Given the description of an element on the screen output the (x, y) to click on. 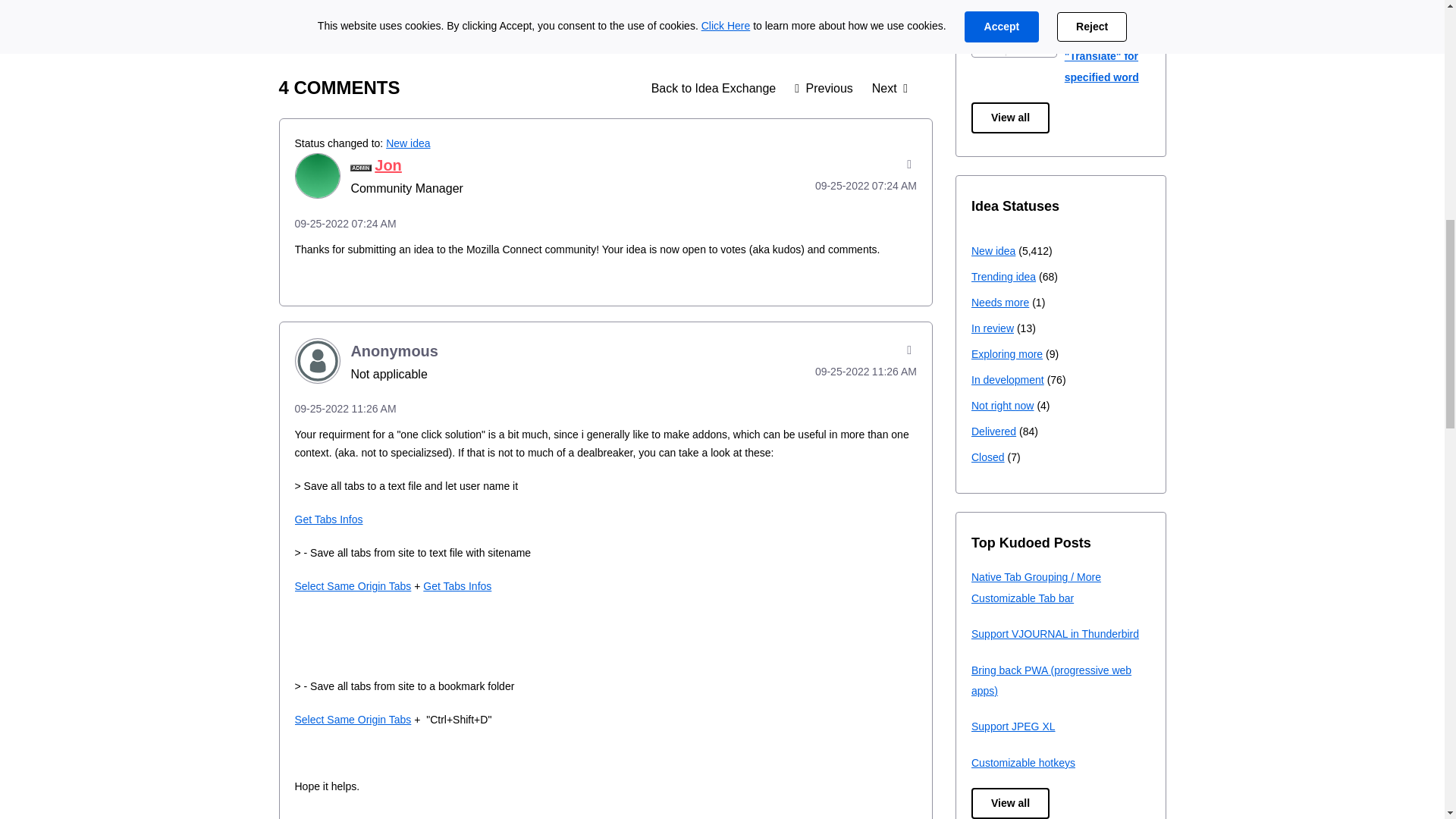
Community Manager (360, 167)
3 (339, 9)
Click here to see who gave kudos to this post. (339, 9)
Ideas (714, 88)
Click here to give kudos to this post. (307, 11)
Jon (316, 176)
Posted on (845, 185)
